Given the description of an element on the screen output the (x, y) to click on. 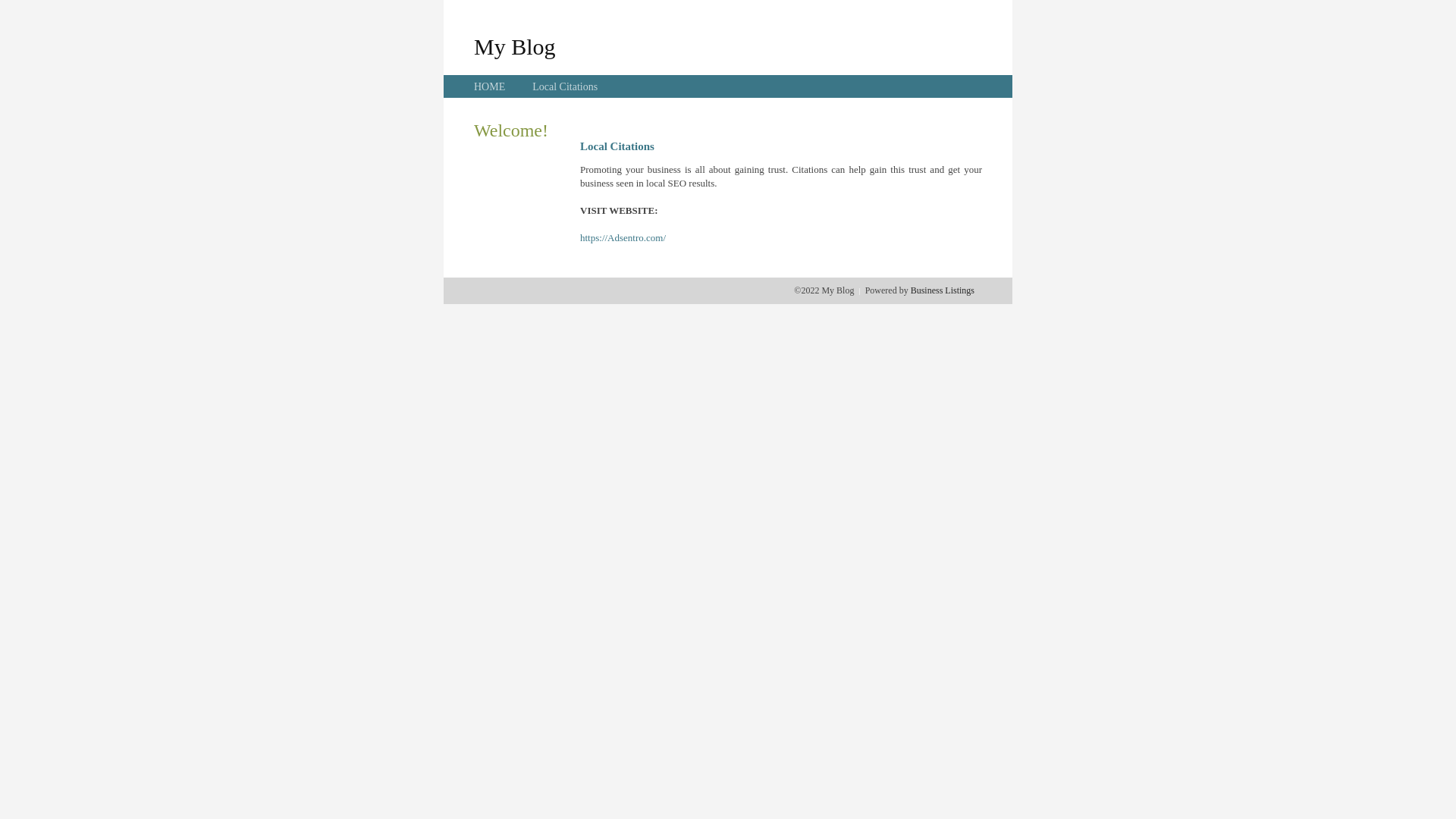
https://Adsentro.com/ Element type: text (622, 237)
Local Citations Element type: text (564, 86)
HOME Element type: text (489, 86)
My Blog Element type: text (514, 46)
Business Listings Element type: text (942, 290)
